Given the description of an element on the screen output the (x, y) to click on. 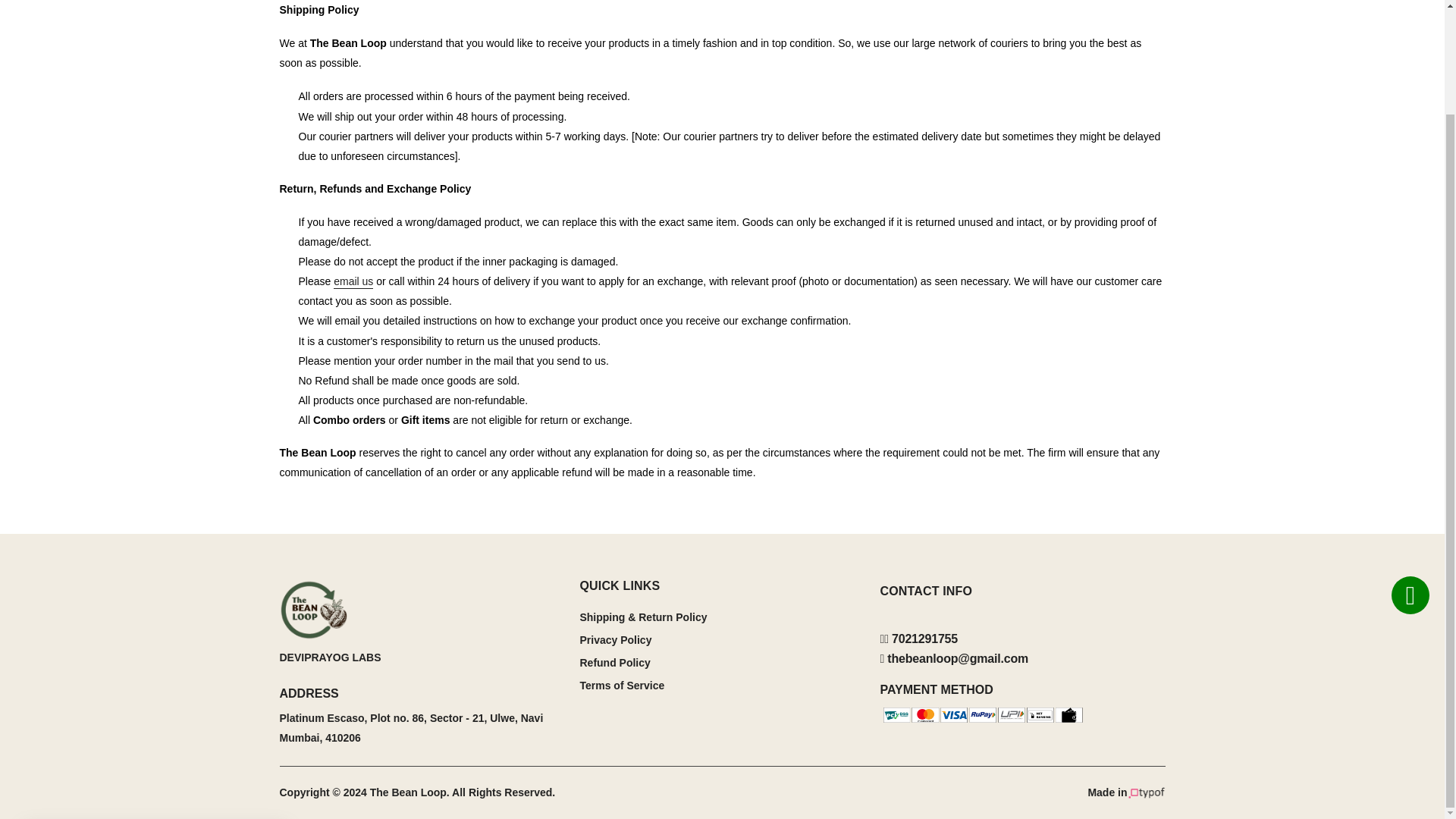
Refund Policy (614, 662)
footer logo (421, 609)
email us (352, 282)
Made in (1125, 792)
7021291755 (918, 638)
Privacy Policy (614, 639)
Terms of Service (621, 685)
